Given the description of an element on the screen output the (x, y) to click on. 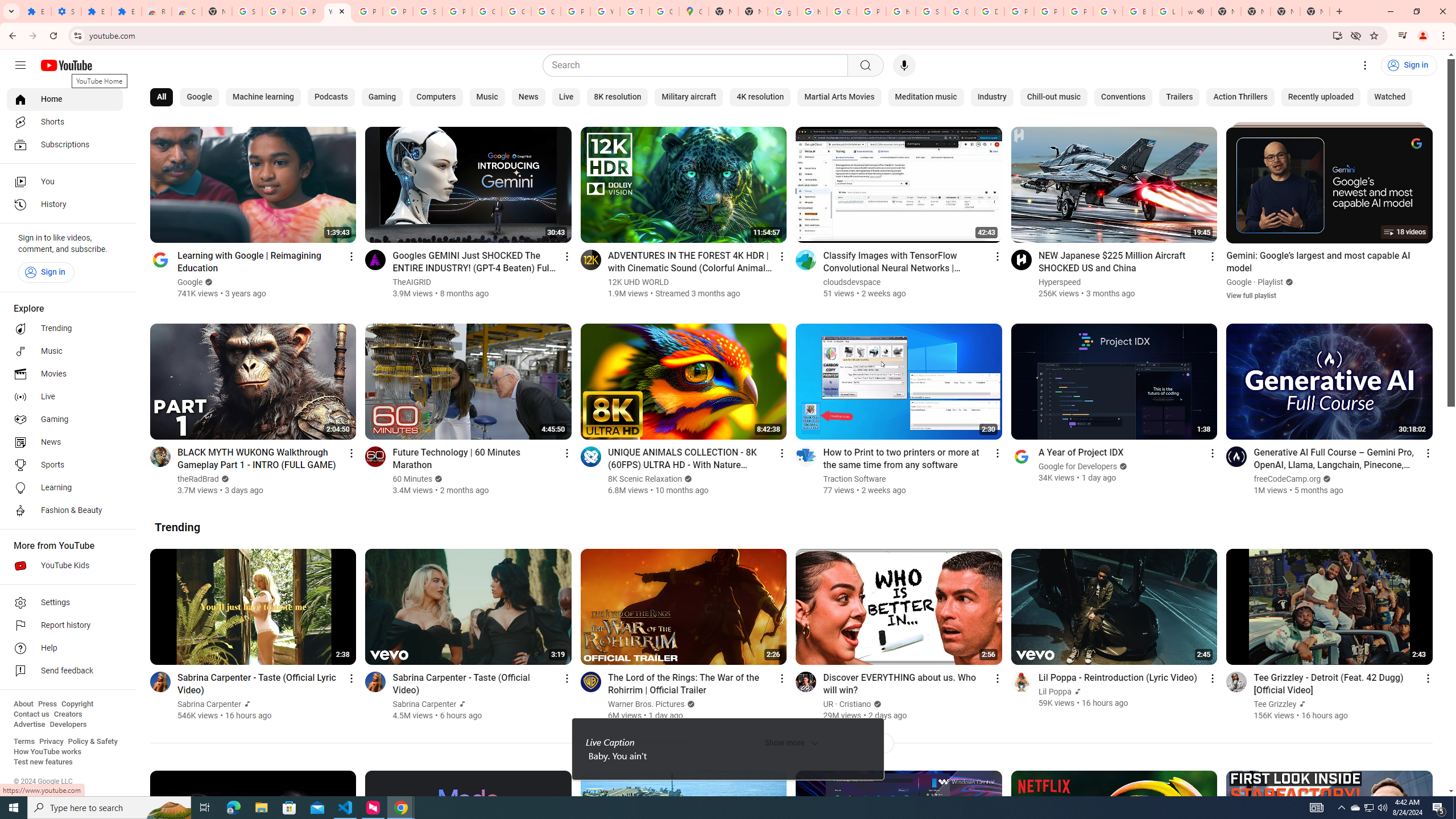
Extensions (95, 11)
Warner Bros. Pictures (646, 704)
New Tab (216, 11)
YouTube (337, 11)
https://scholar.google.com/ (900, 11)
Press (46, 703)
YouTube (604, 11)
